Given the description of an element on the screen output the (x, y) to click on. 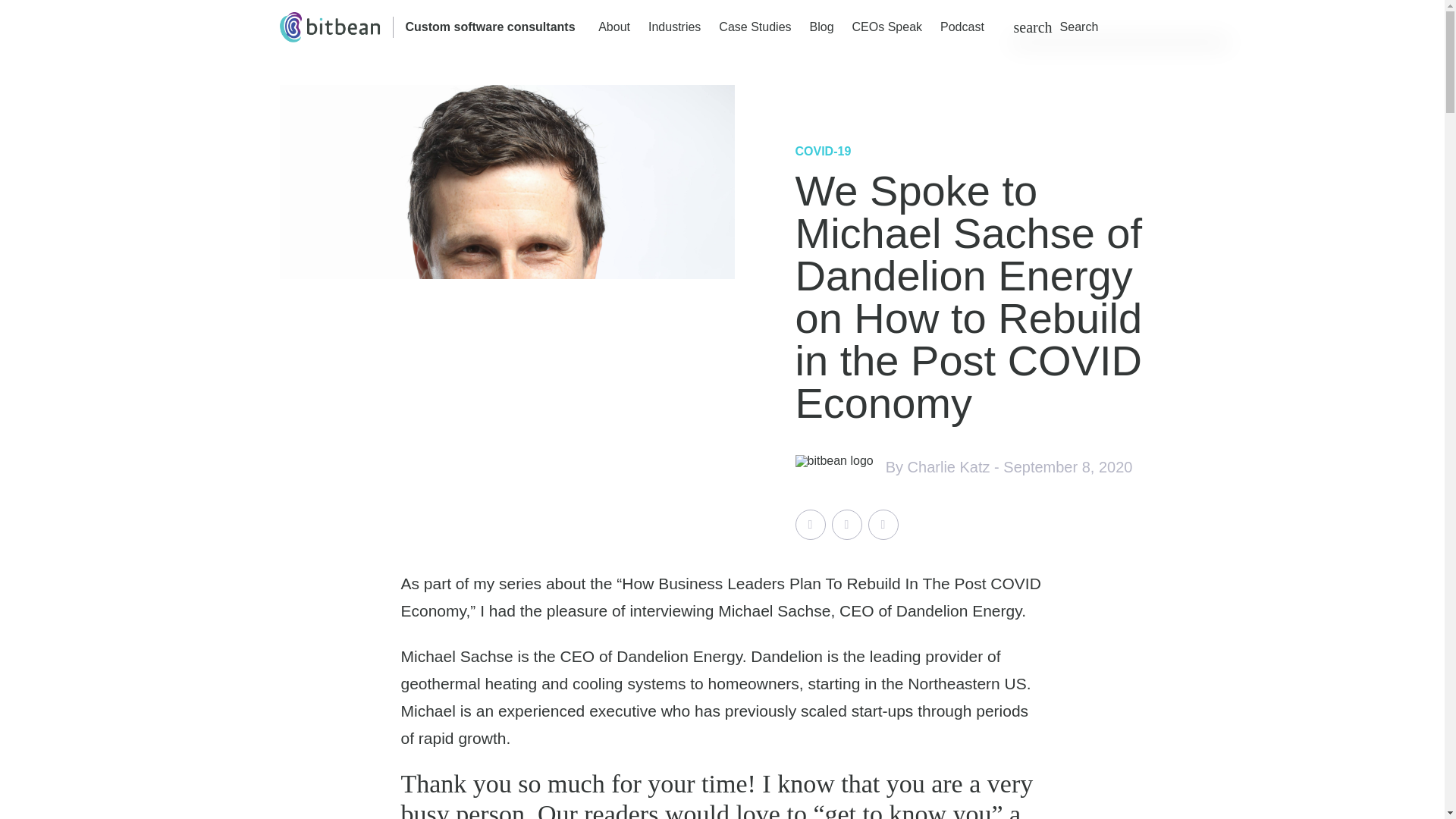
Blog (821, 26)
About (614, 26)
Share on Facebook (846, 524)
Charlie Katz (948, 466)
CEOs Speak (886, 26)
Case Studies (754, 26)
Podcast (962, 26)
Custom software consultants (490, 26)
Share on Twitter (809, 524)
Share via Email (882, 524)
